Given the description of an element on the screen output the (x, y) to click on. 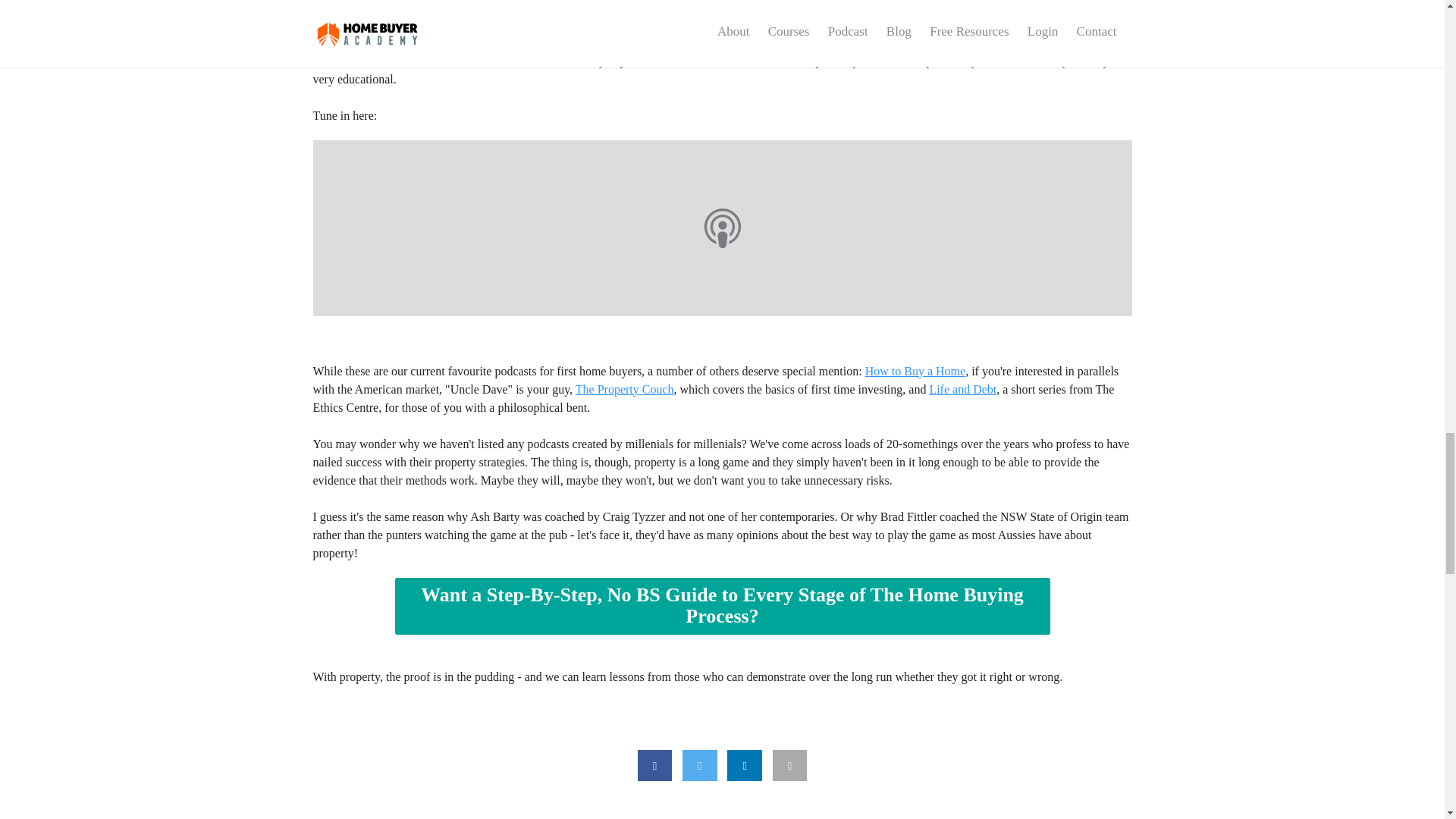
Life and Debt (961, 389)
How to Buy a Home (914, 370)
The Property Couch (624, 389)
